Given the description of an element on the screen output the (x, y) to click on. 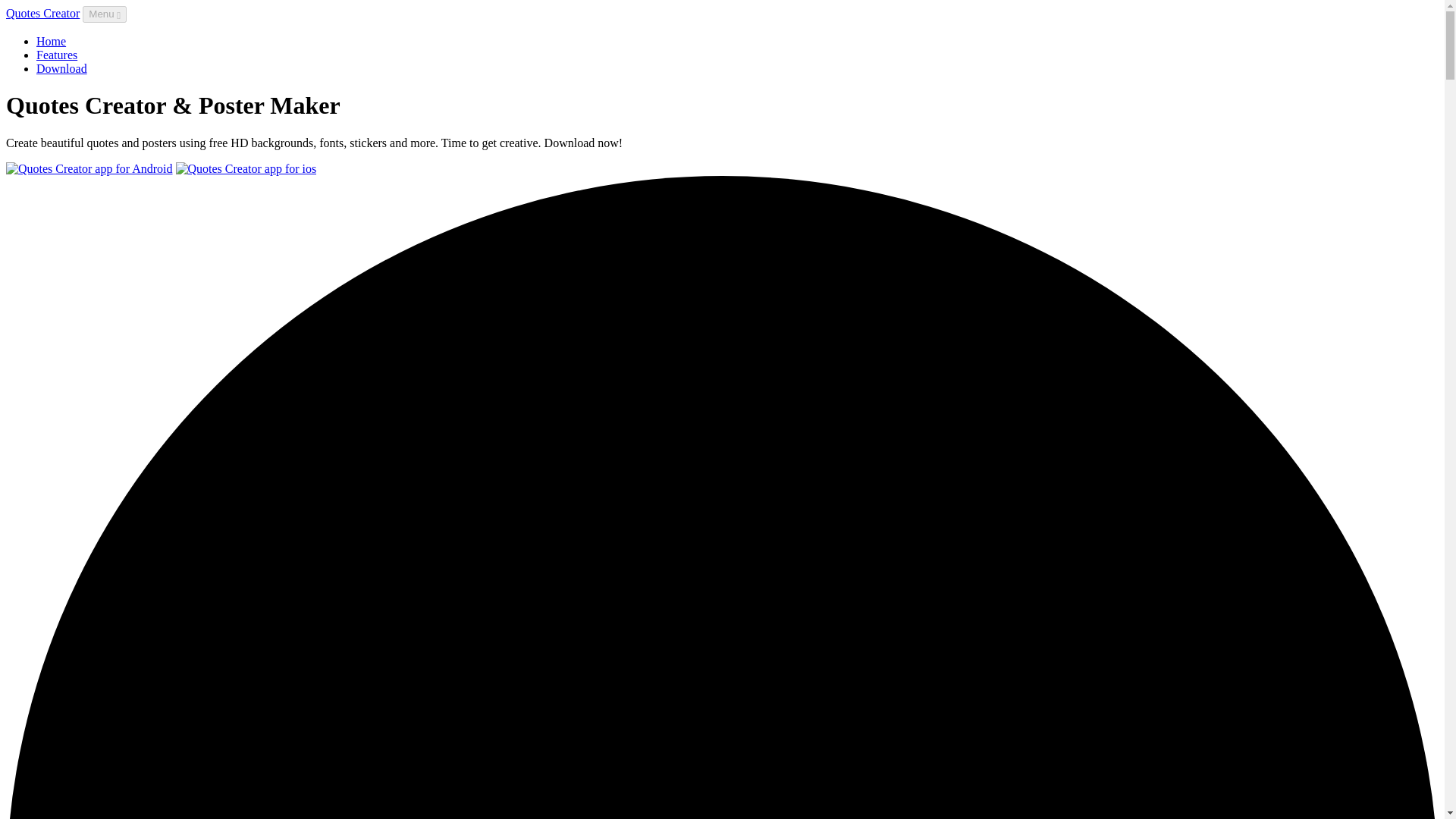
Home (50, 41)
Menu (104, 13)
Download (61, 68)
Features (56, 54)
Quotes Creator (42, 12)
